Given the description of an element on the screen output the (x, y) to click on. 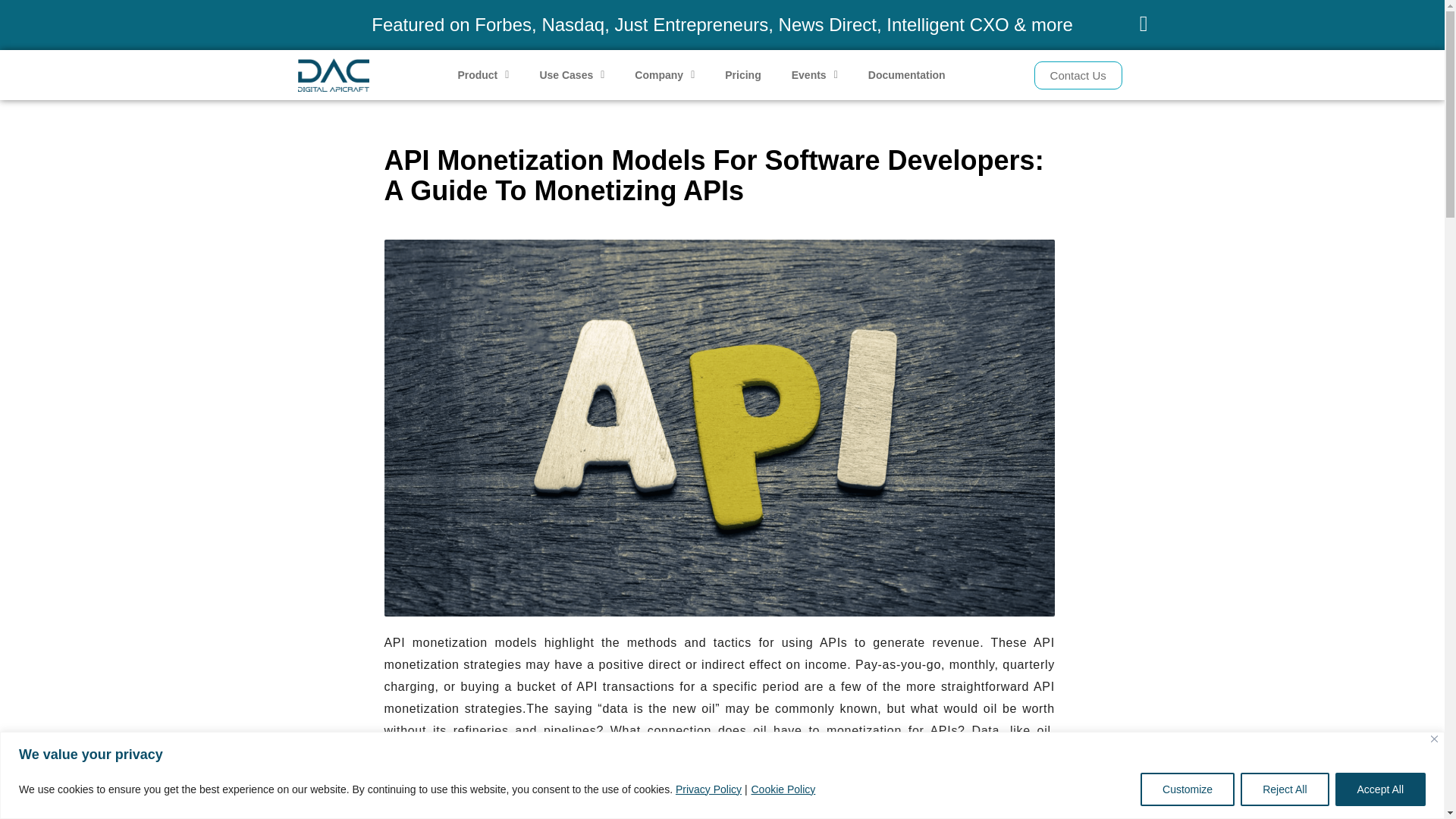
Customize (1187, 788)
Privacy Policy (708, 788)
Nasdaq (572, 24)
Intelligent CXO (947, 24)
Accept All (1380, 788)
Product (483, 74)
Just Entrepreneurs, (693, 24)
News Direct (827, 24)
Forbes (502, 24)
Use Cases (572, 74)
Reject All (1283, 788)
Company (665, 74)
Cookie Policy (782, 789)
